Given the description of an element on the screen output the (x, y) to click on. 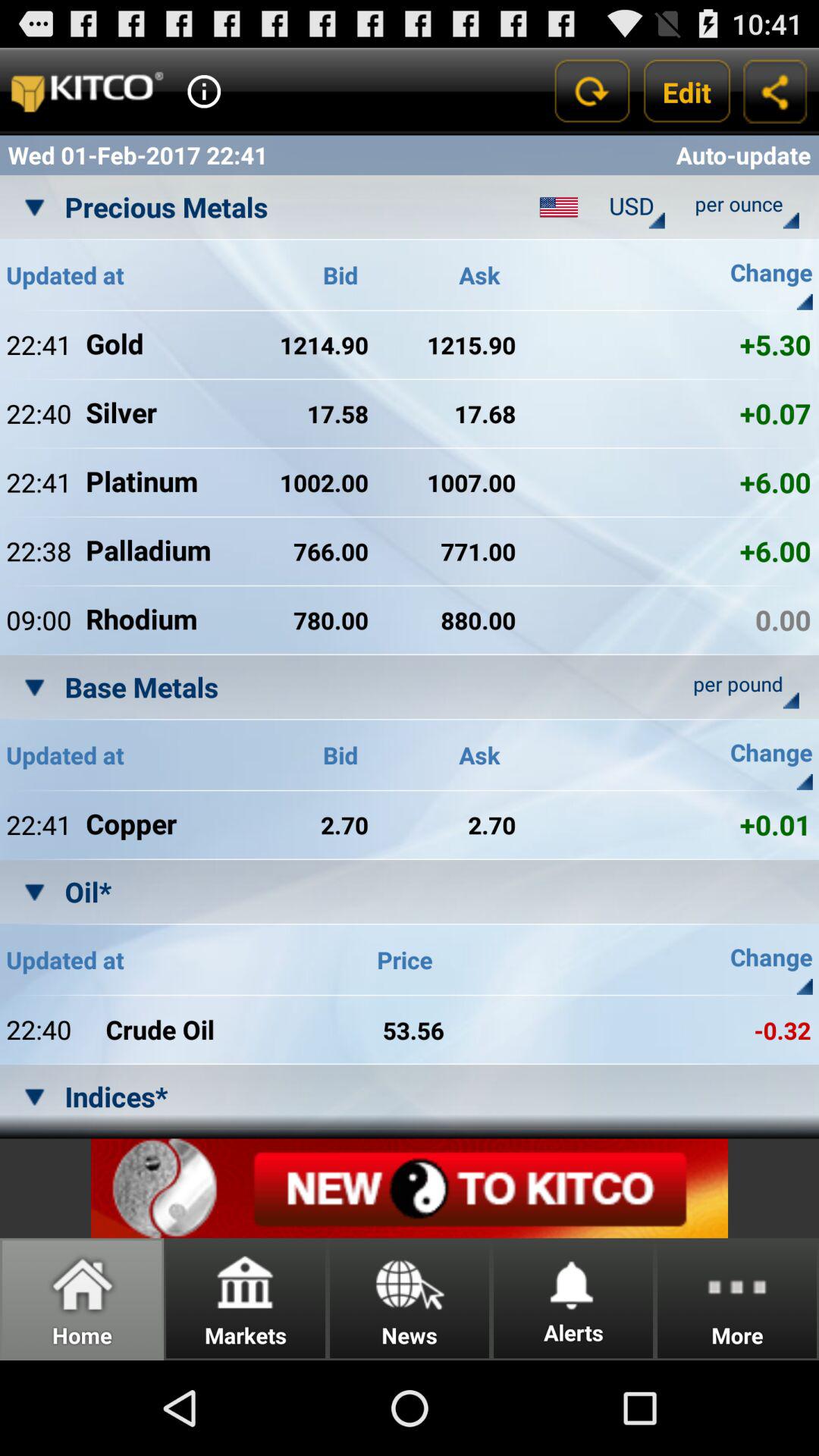
more information (204, 91)
